Given the description of an element on the screen output the (x, y) to click on. 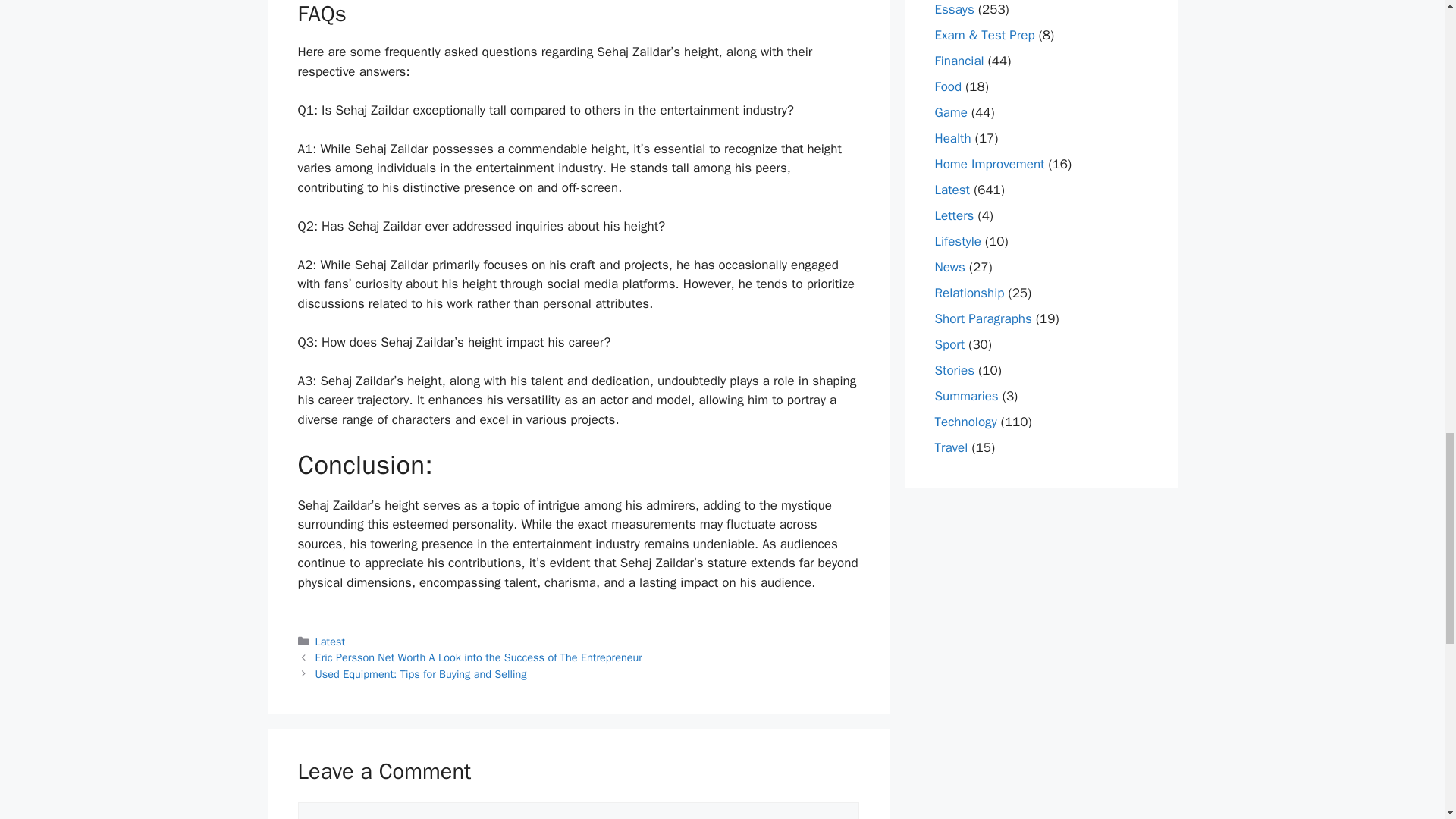
Latest (330, 641)
Financial (959, 60)
Food (947, 86)
Essays (954, 9)
Used Equipment: Tips for Buying and Selling (421, 673)
